Given the description of an element on the screen output the (x, y) to click on. 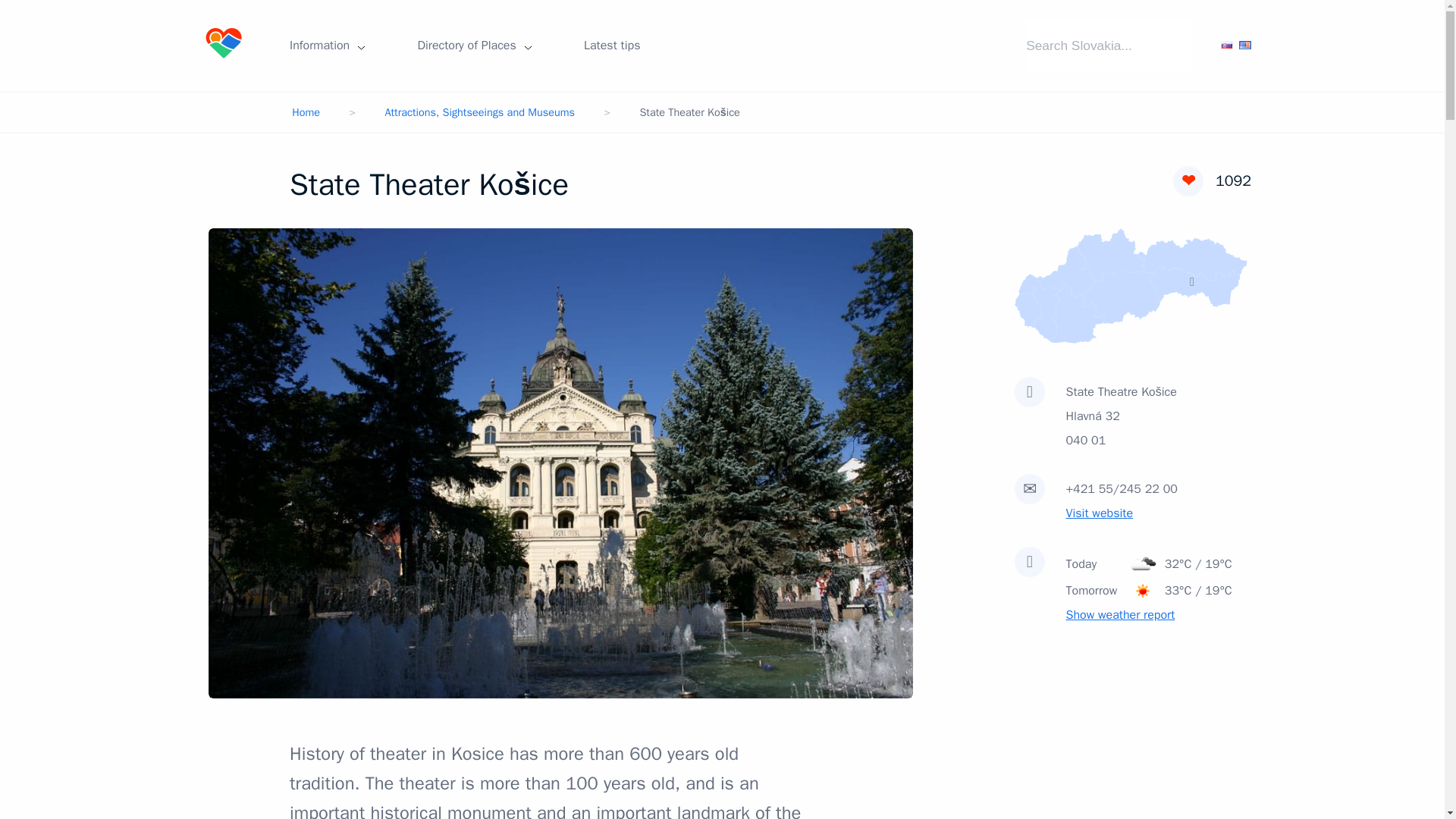
Directory of Places (474, 45)
Information (327, 45)
